Given the description of an element on the screen output the (x, y) to click on. 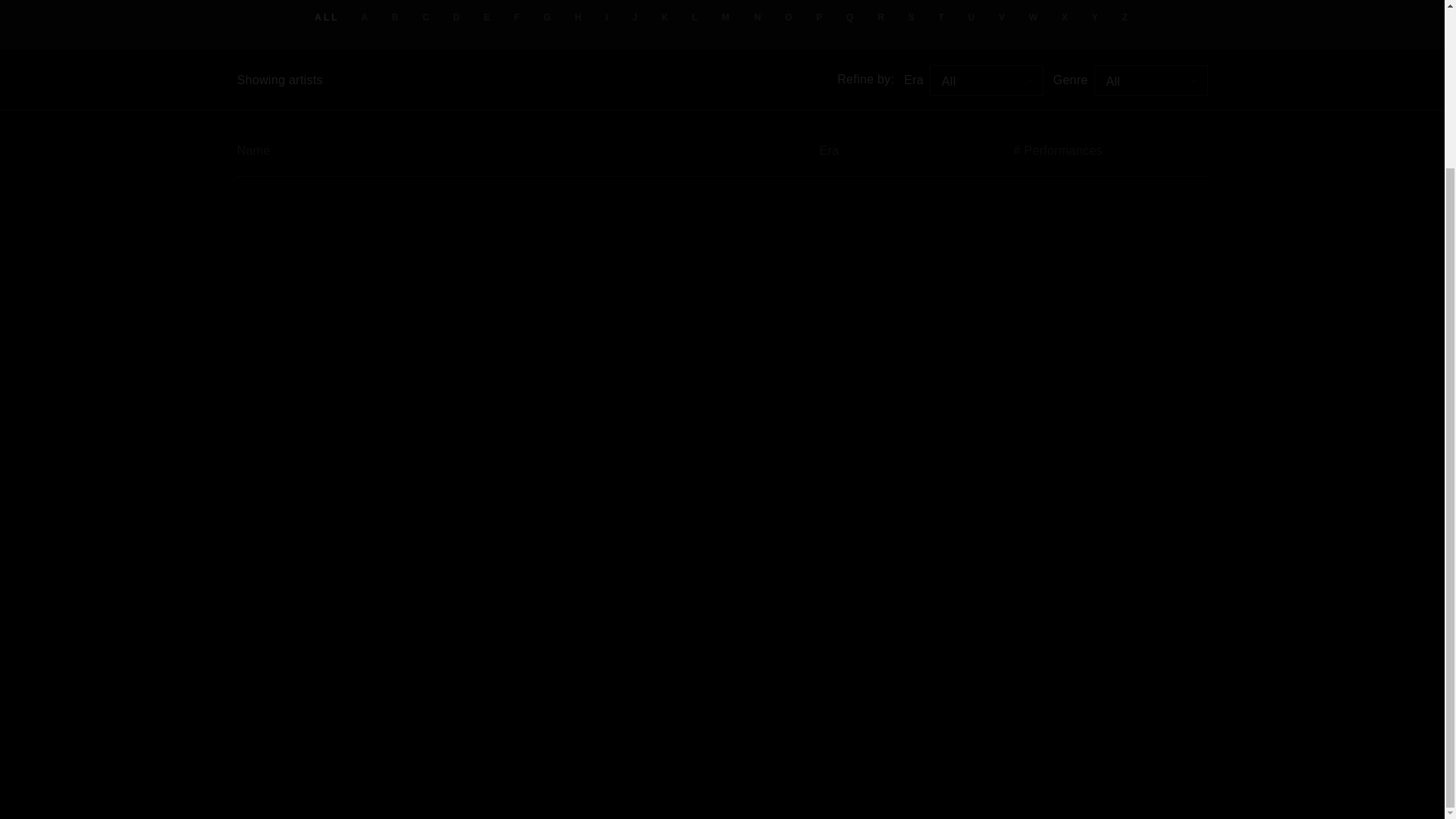
Q (849, 17)
K (664, 17)
O (788, 17)
R (881, 17)
ALL (326, 17)
L (696, 17)
B (395, 17)
N (758, 17)
A (365, 17)
S (912, 17)
J (636, 17)
P (820, 17)
D (457, 17)
H (579, 17)
G (548, 17)
